Given the description of an element on the screen output the (x, y) to click on. 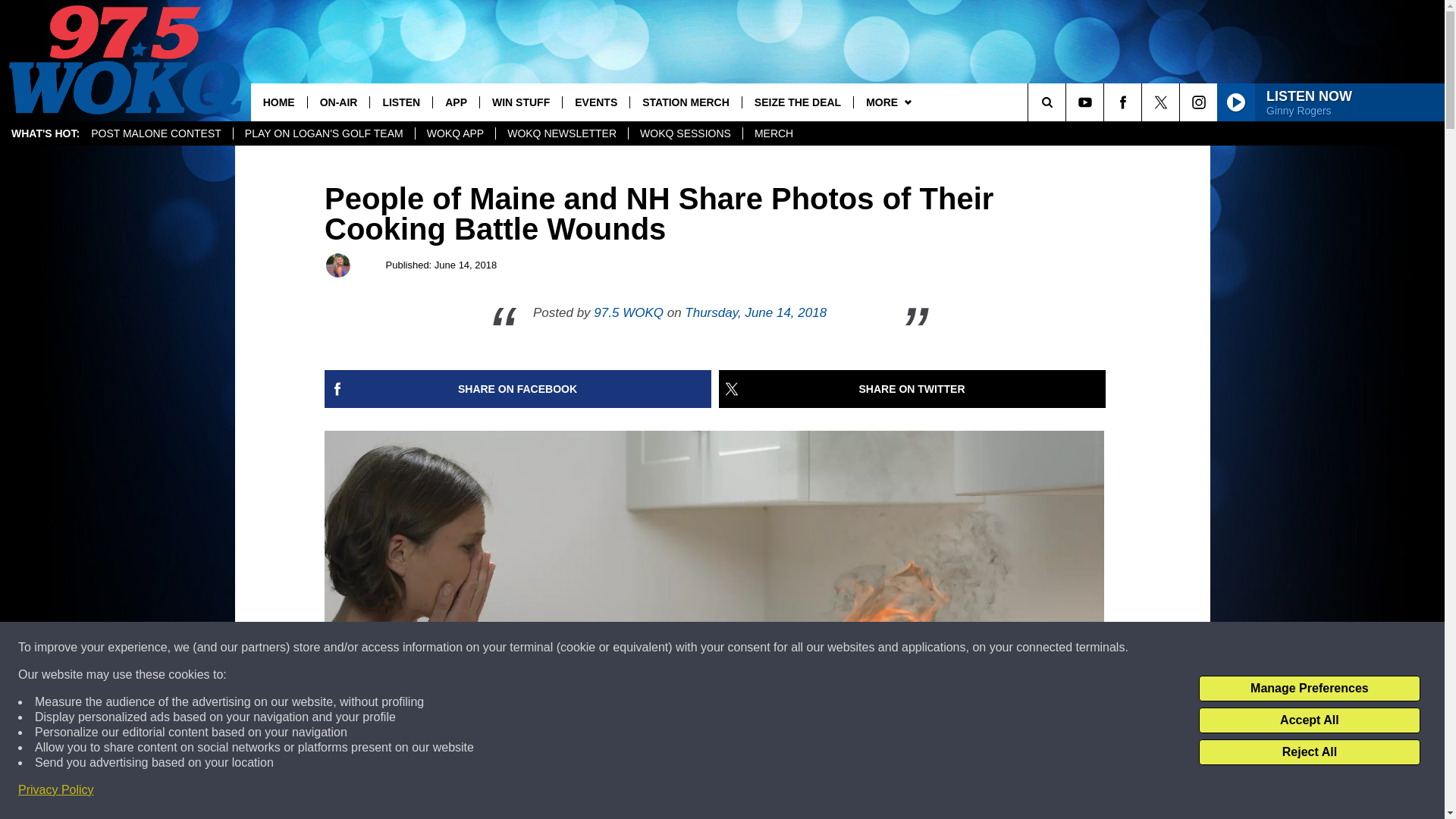
PLAY ON LOGAN'S GOLF TEAM (323, 133)
HOME (278, 102)
POST MALONE CONTEST (156, 133)
EVENTS (595, 102)
LISTEN (400, 102)
Share on Facebook (517, 388)
Privacy Policy (55, 789)
WIN STUFF (520, 102)
ON-AIR (338, 102)
Share on Twitter (912, 388)
WOKQ APP (454, 133)
Reject All (1309, 751)
MERCH (773, 133)
WOKQ SESSIONS (684, 133)
WOKQ NEWSLETTER (561, 133)
